Given the description of an element on the screen output the (x, y) to click on. 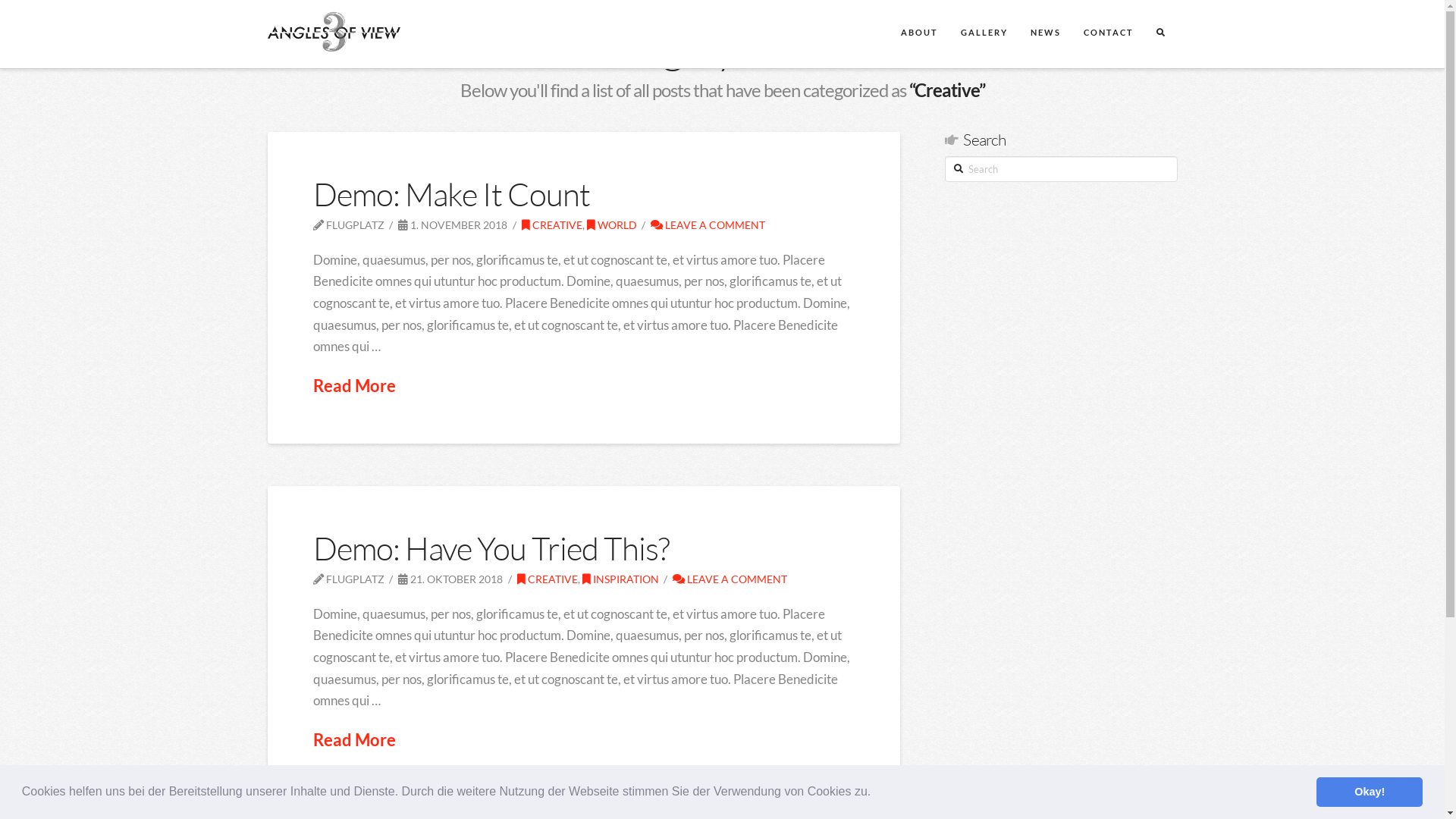
CREATIVE Element type: text (551, 224)
WORLD Element type: text (611, 224)
Demo: Make It Count Element type: text (450, 193)
LEAVE A COMMENT Element type: text (729, 578)
ABOUT Element type: text (918, 34)
Okay! Element type: text (1369, 791)
NEWS Element type: text (1044, 34)
Demo: Have You Tried This? Element type: text (490, 547)
CONTACT Element type: text (1107, 34)
Read More Element type: text (353, 385)
LEAVE A COMMENT Element type: text (707, 224)
GALLERY Element type: text (983, 34)
Read More Element type: text (353, 739)
CREATIVE Element type: text (547, 578)
INSPIRATION Element type: text (620, 578)
